Given the description of an element on the screen output the (x, y) to click on. 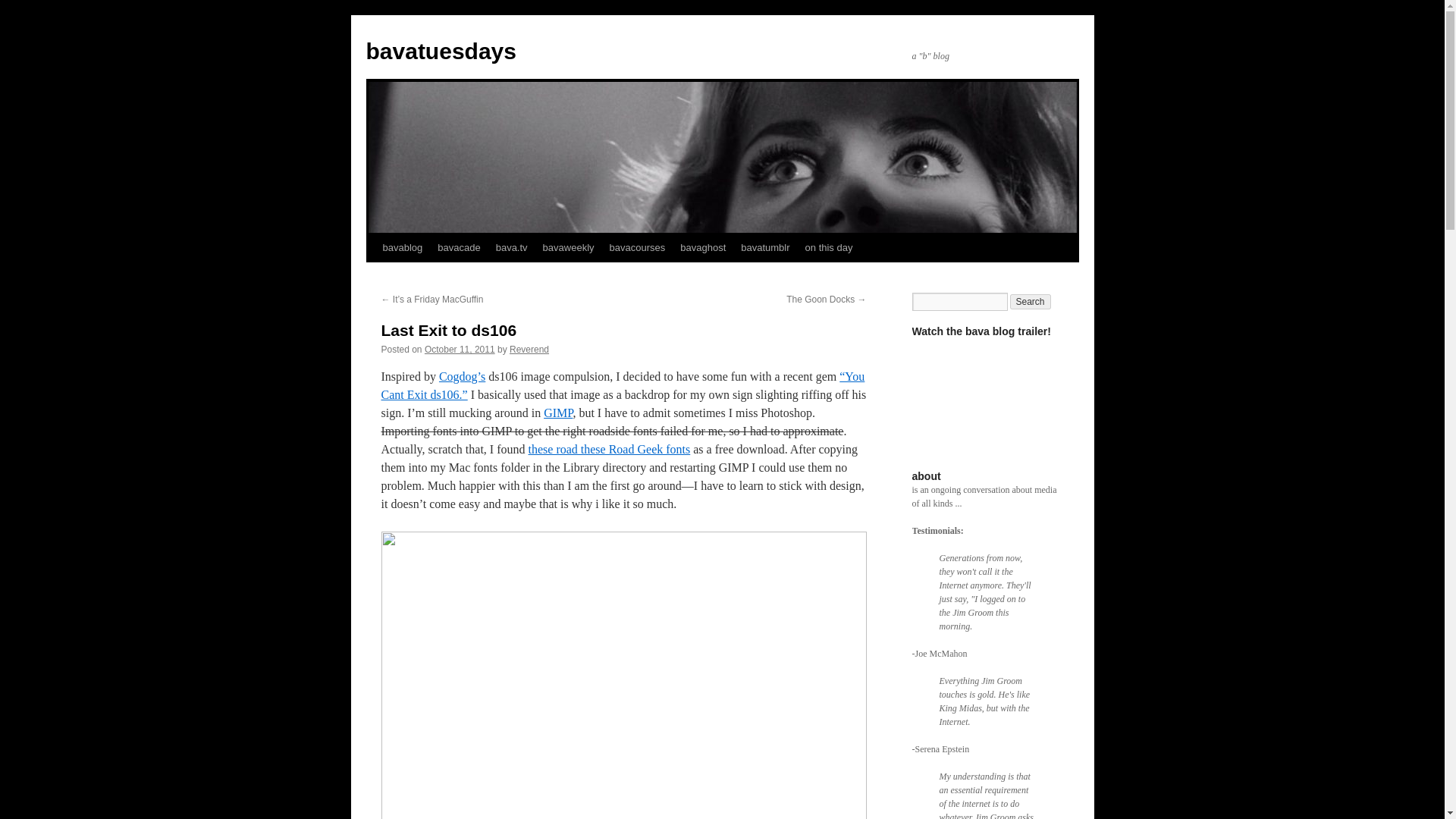
GIMP (557, 412)
bavaghost (702, 247)
bavatumblr (764, 247)
bavaweekly (568, 247)
View all posts by Reverend (528, 348)
bavatuesdays (440, 50)
October 11, 2011 (460, 348)
Reverend (528, 348)
bava.tv (511, 247)
Search (1030, 301)
